Given the description of an element on the screen output the (x, y) to click on. 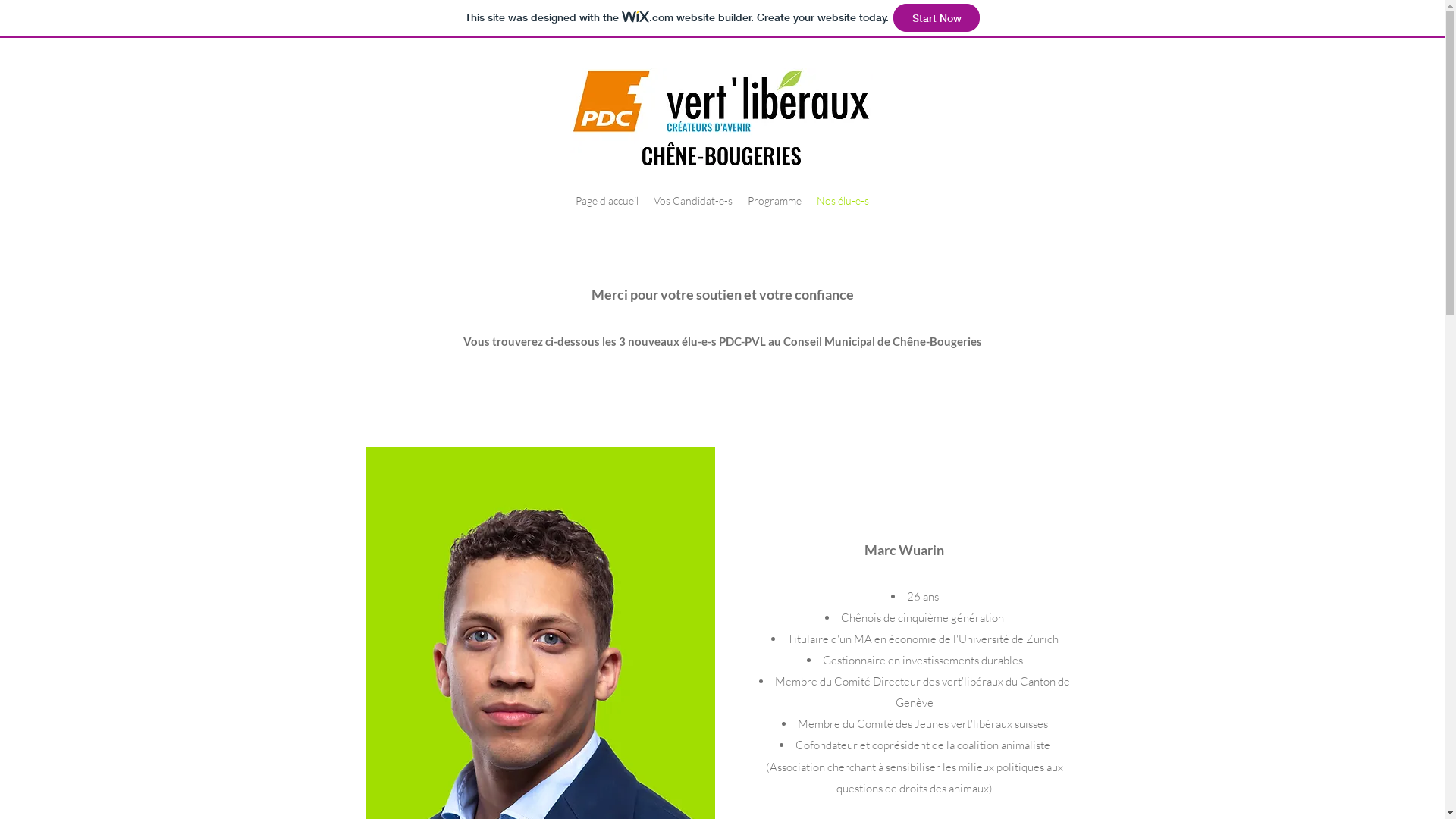
Page d'accueil Element type: text (606, 200)
Vos Candidat-e-s Element type: text (693, 200)
Programme Element type: text (774, 200)
